Given the description of an element on the screen output the (x, y) to click on. 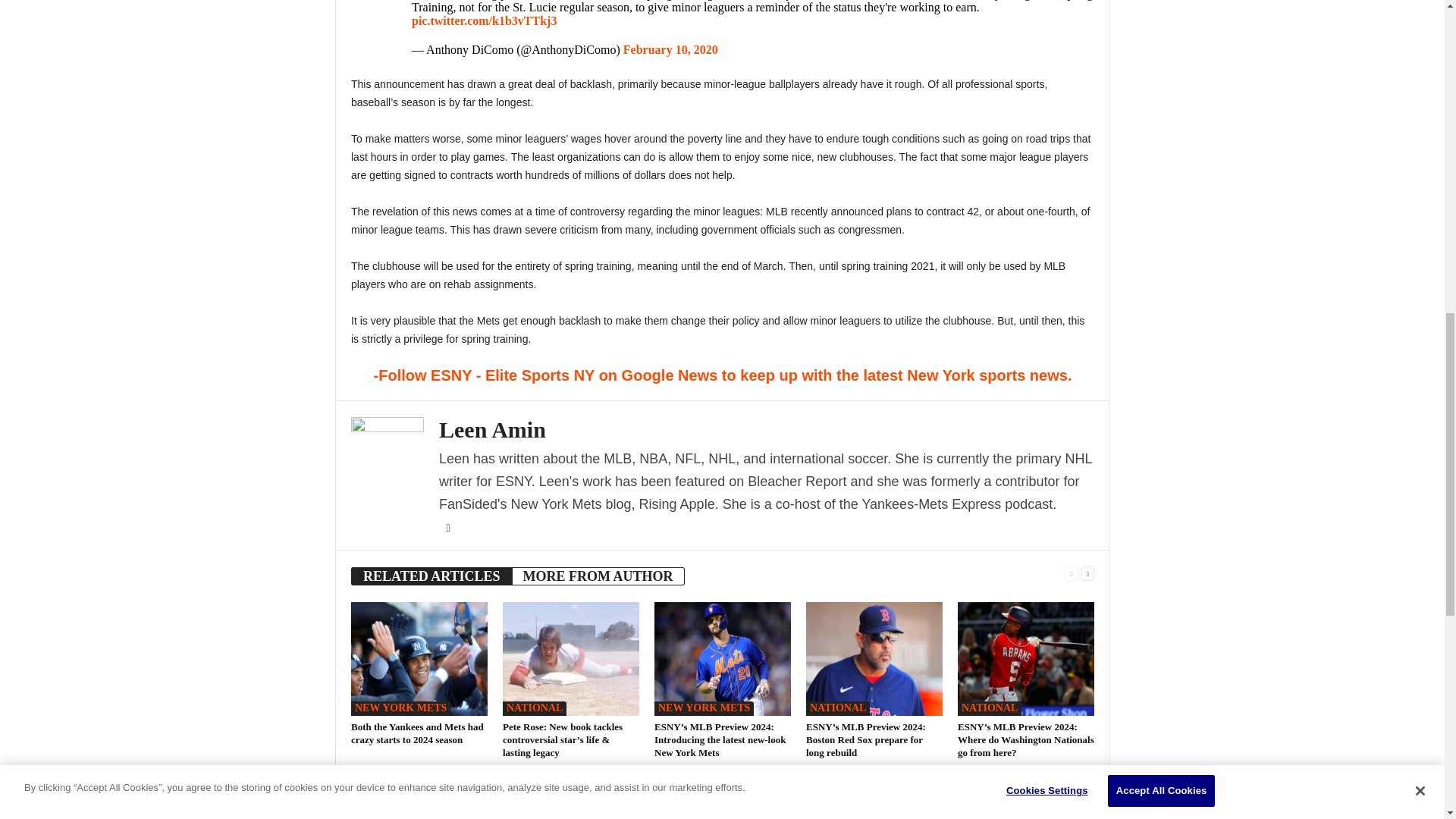
Both the Yankees and Mets had crazy starts to 2024 season (418, 658)
Twitter (448, 528)
Both the Yankees and Mets had crazy starts to 2024 season (416, 733)
